Given the description of an element on the screen output the (x, y) to click on. 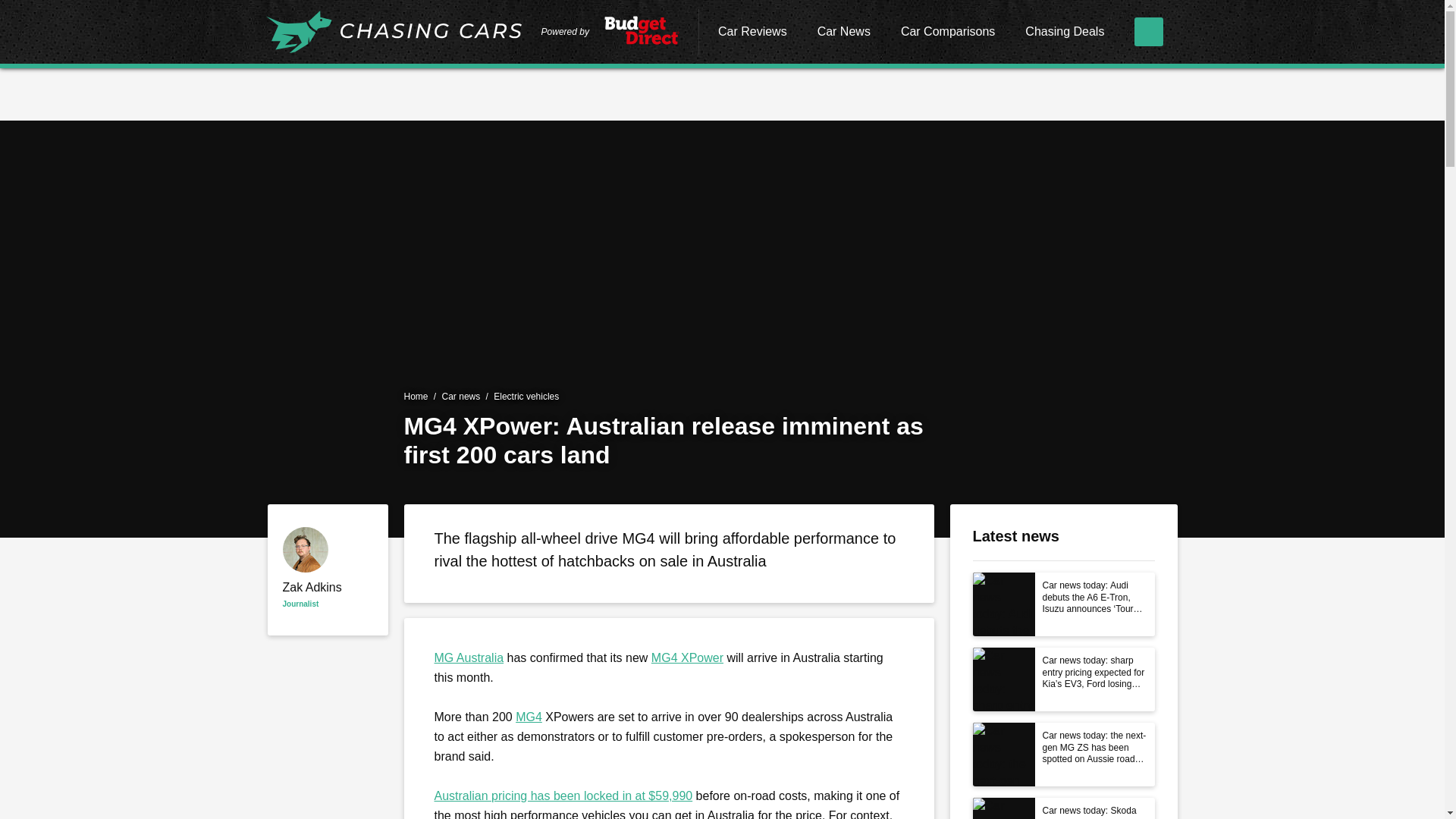
Car Reviews (752, 33)
Car News (843, 33)
